Given the description of an element on the screen output the (x, y) to click on. 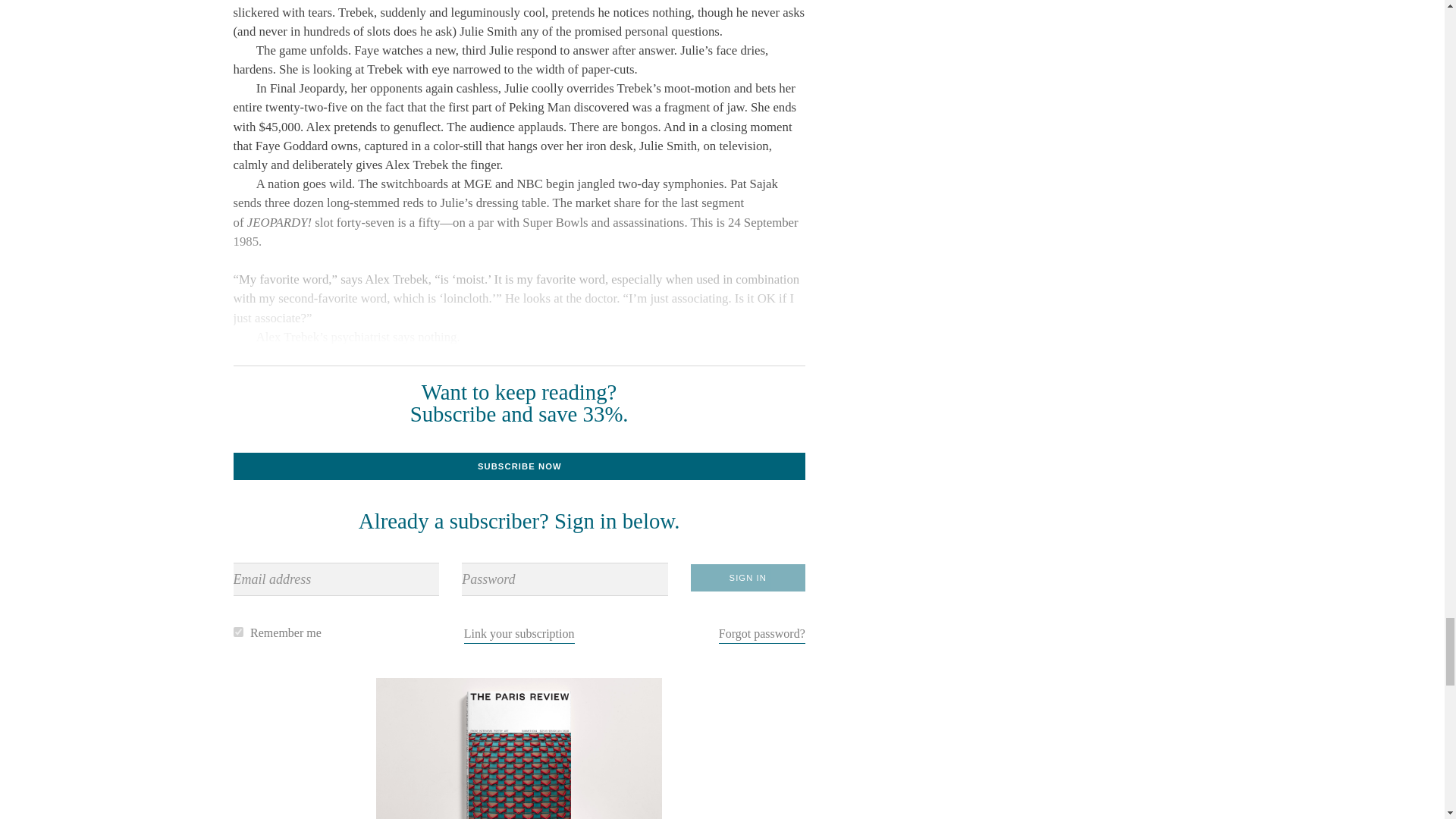
Sign In (747, 577)
remember (237, 632)
